Given the description of an element on the screen output the (x, y) to click on. 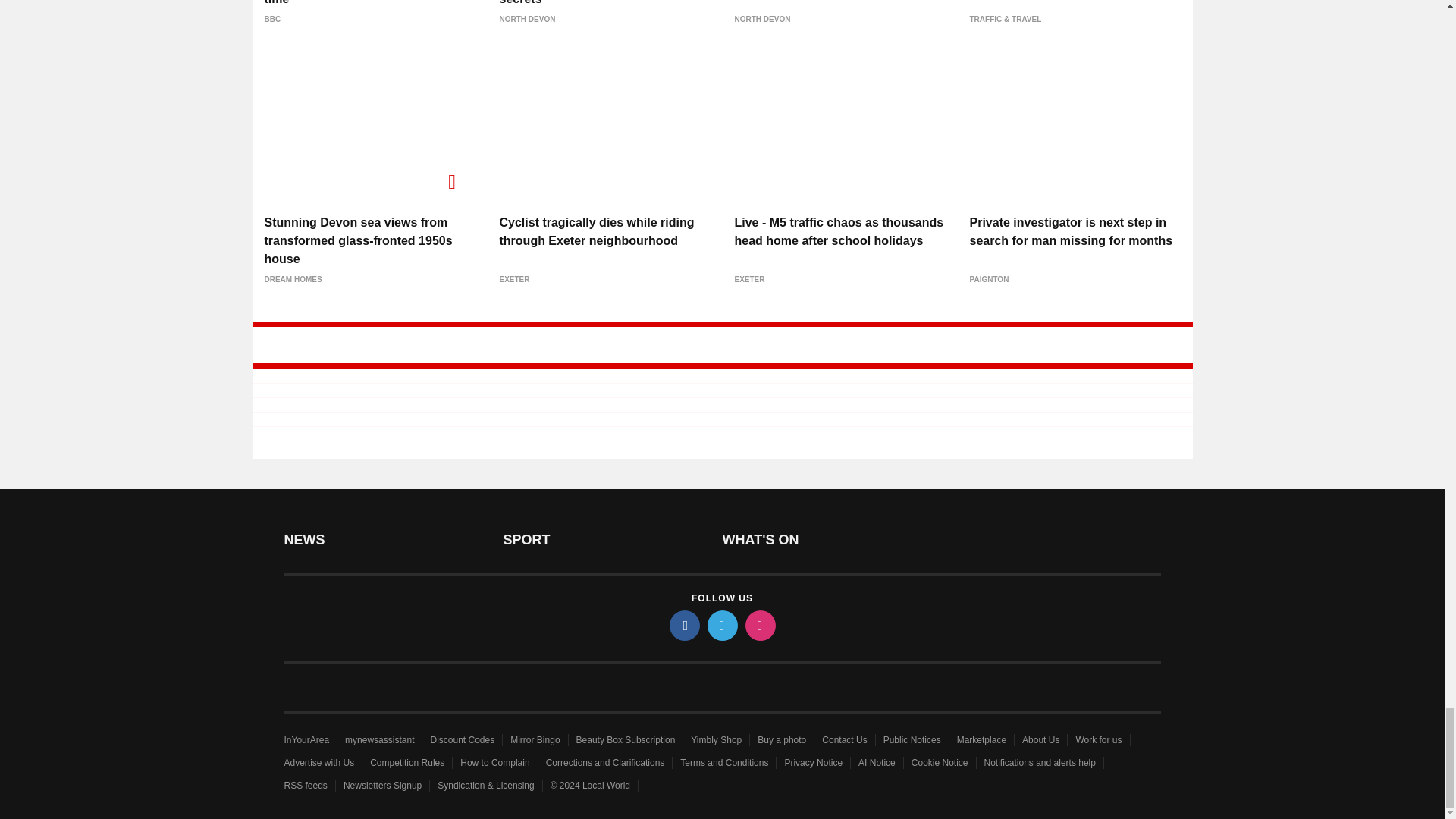
instagram (759, 625)
twitter (721, 625)
facebook (683, 625)
